Given the description of an element on the screen output the (x, y) to click on. 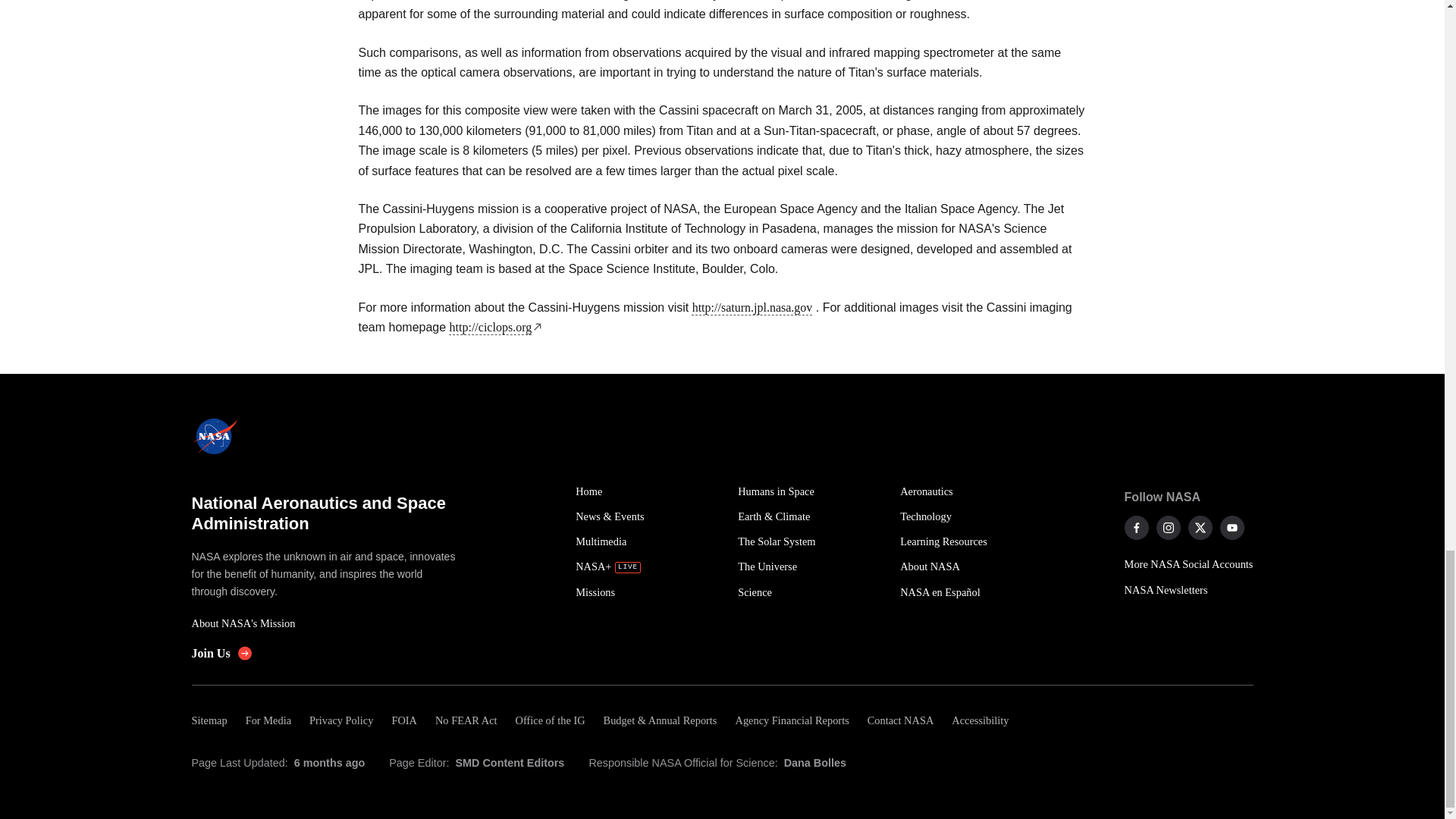
Agency Financial Reports (791, 720)
Office of the IG (550, 720)
Privacy Policy (340, 720)
Accessibility (979, 720)
For Media (267, 720)
No FEAR Act (466, 720)
Sitemap (212, 720)
Contact NASA (901, 720)
FOIA (403, 720)
